Given the description of an element on the screen output the (x, y) to click on. 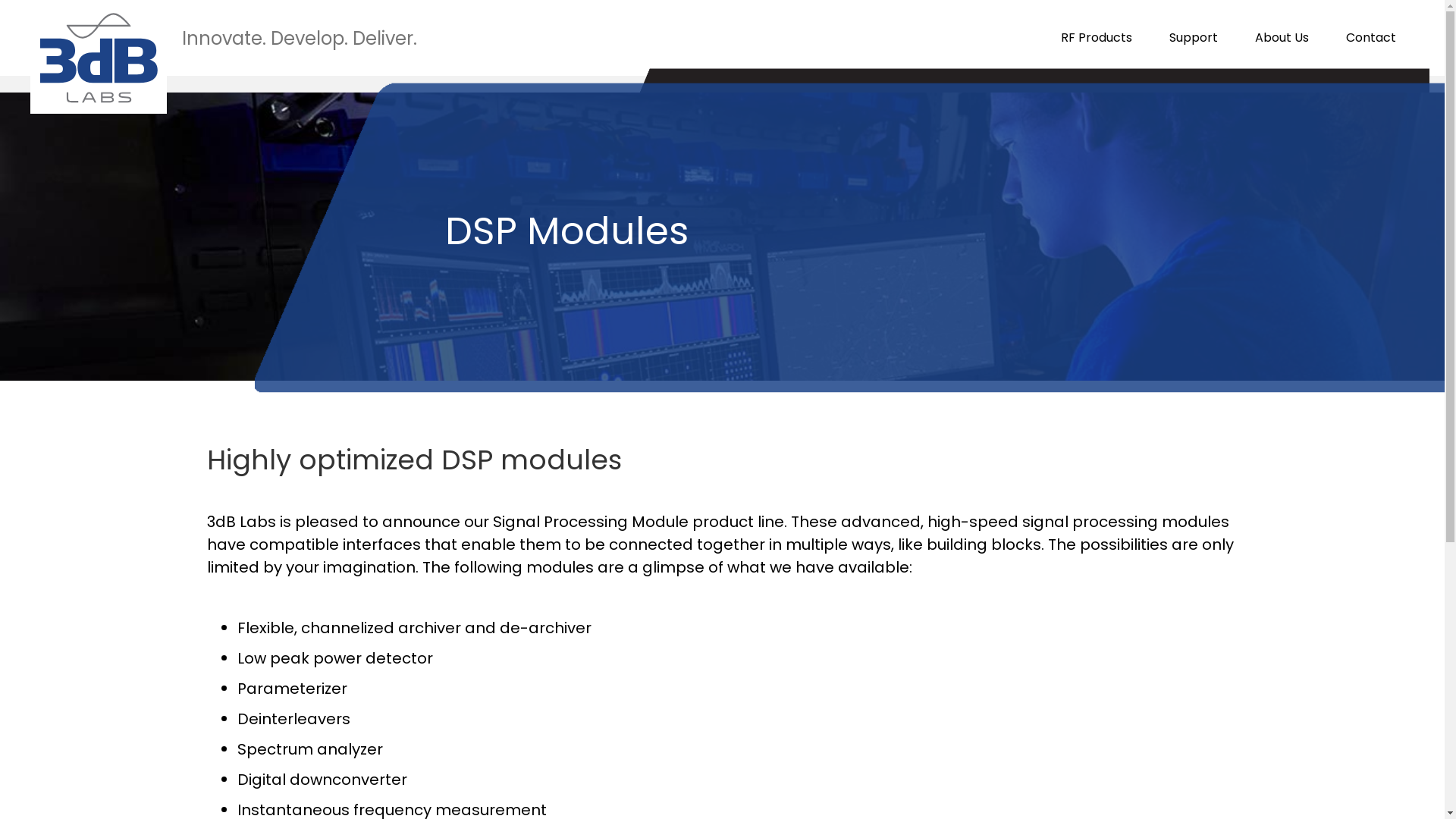
black-angle-1 Element type: hover (1029, 91)
RF Products Element type: text (1096, 37)
Contact Element type: text (1370, 37)
About Us Element type: text (1281, 37)
logo-3db-03 Element type: hover (98, 57)
Support Element type: text (1193, 37)
